Given the description of an element on the screen output the (x, y) to click on. 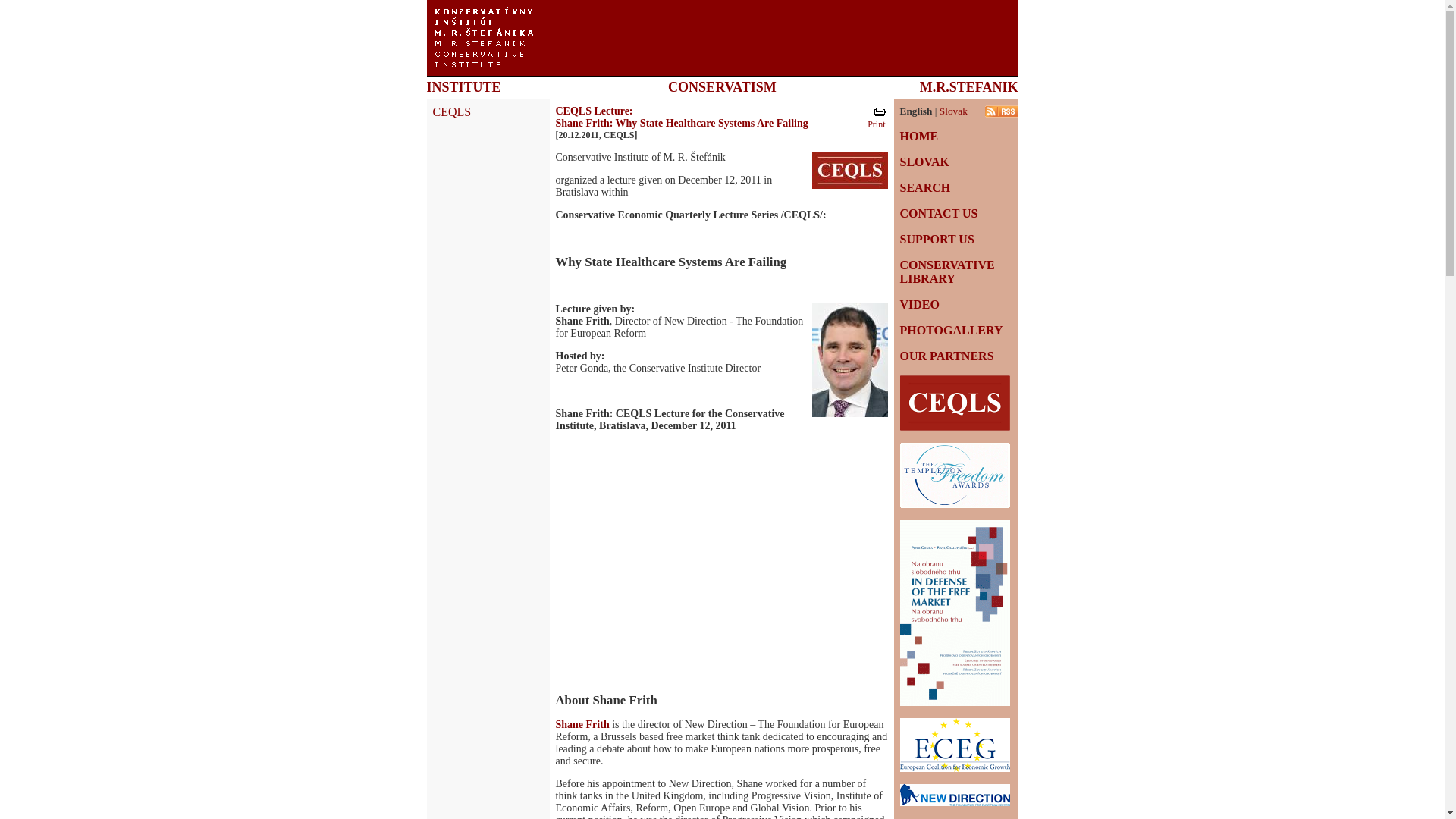
SUPPORT US (936, 238)
VIDEO (919, 304)
CONSERVATIVE LIBRARY (946, 271)
CONSERVATISM (722, 87)
HOME (918, 135)
Institute.SK (483, 37)
OUR PARTNERS (945, 355)
PHOTOGALLERY (951, 329)
Slovak (953, 111)
RSS (1000, 111)
Shane Frith (581, 724)
M.R.STEFANIK (968, 87)
SLOVAK (924, 161)
CEQLS (451, 111)
CONTACT US (937, 213)
